Given the description of an element on the screen output the (x, y) to click on. 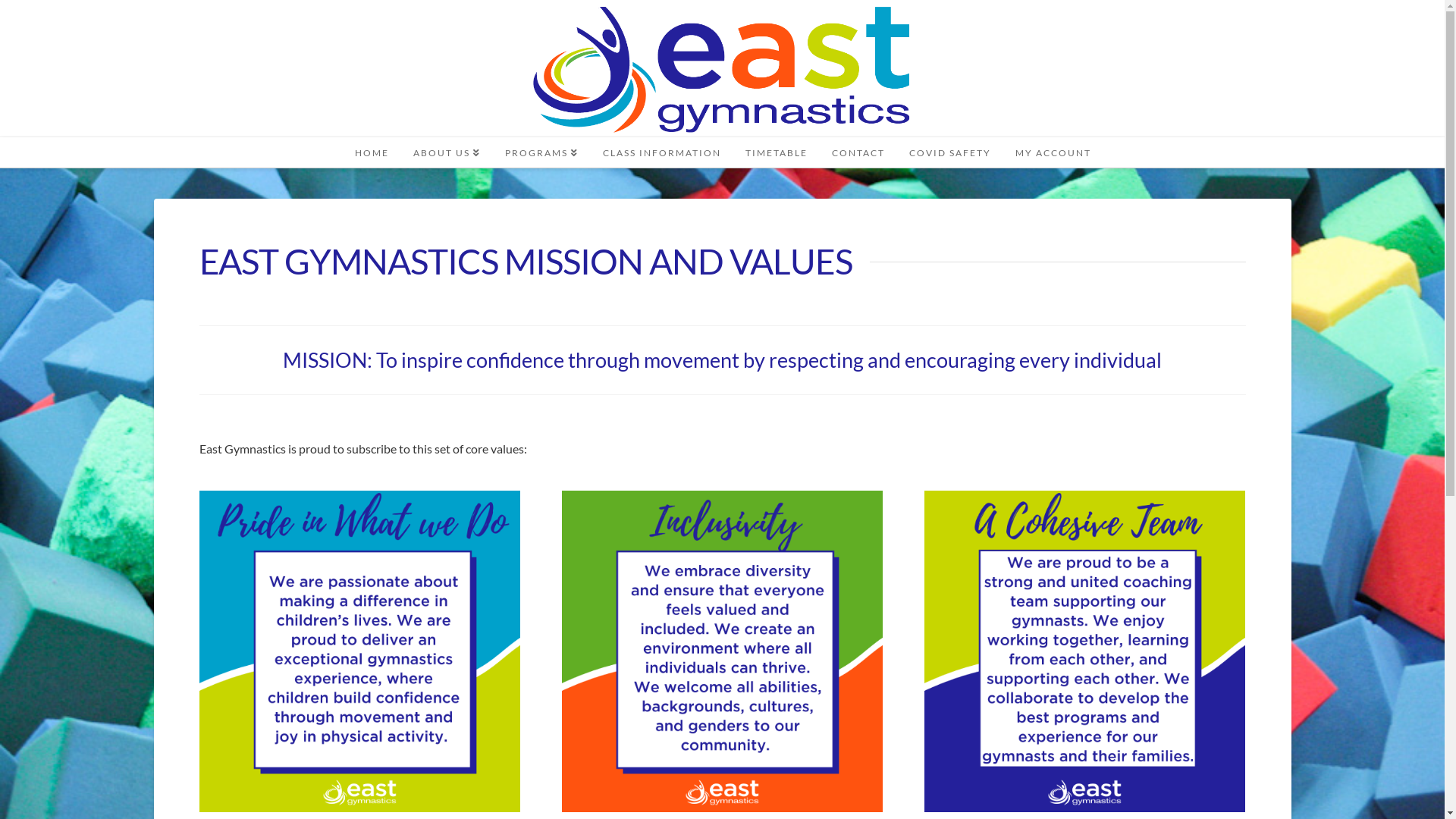
PROGRAMS Element type: text (540, 152)
ABOUT US Element type: text (446, 152)
CONTACT Element type: text (857, 152)
COVID SAFETY Element type: text (949, 152)
TIMETABLE Element type: text (775, 152)
HOME Element type: text (371, 152)
CLASS INFORMATION Element type: text (660, 152)
MY ACCOUNT Element type: text (1052, 152)
